Given the description of an element on the screen output the (x, y) to click on. 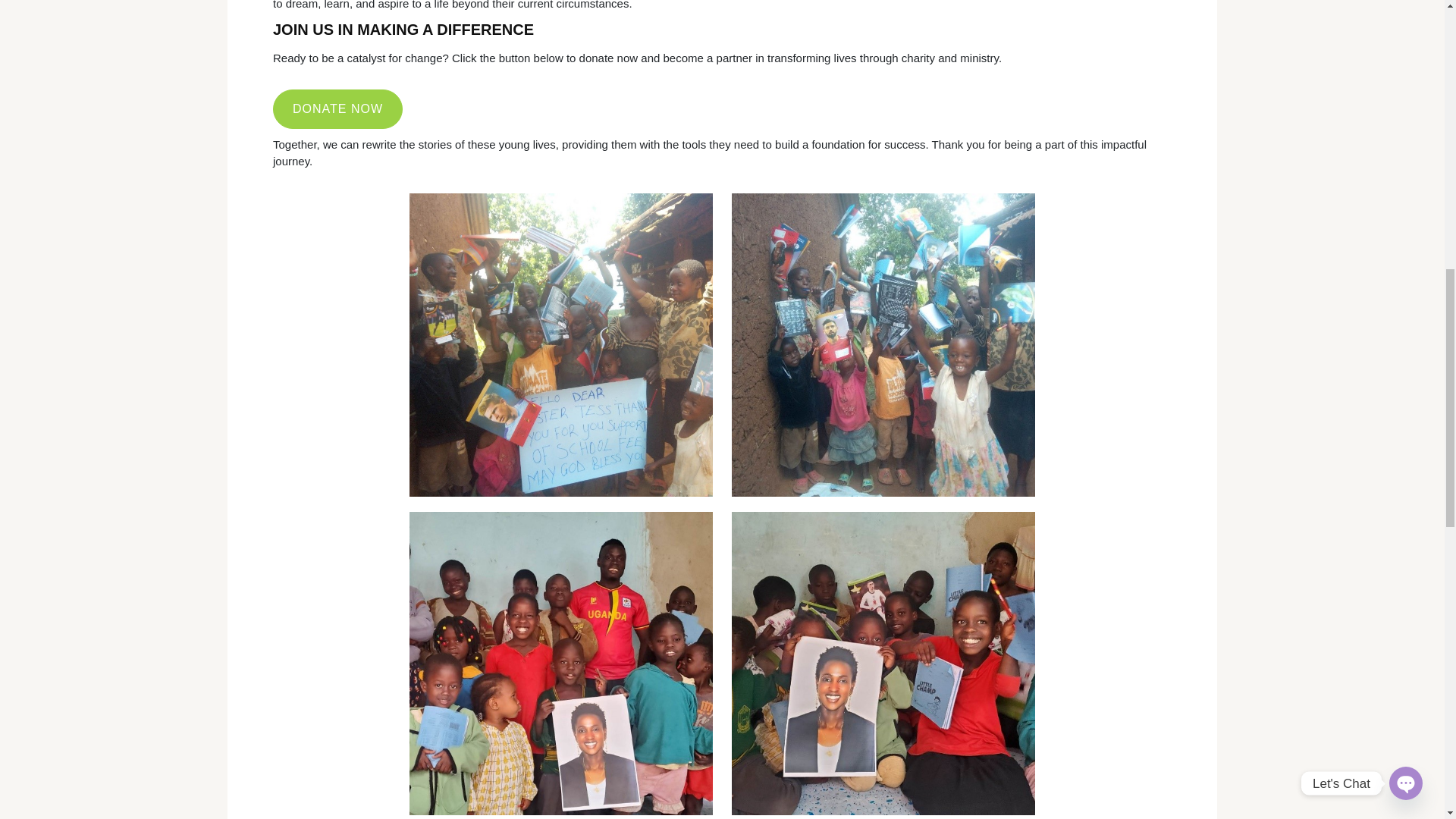
DONATE NOW (338, 108)
